Given the description of an element on the screen output the (x, y) to click on. 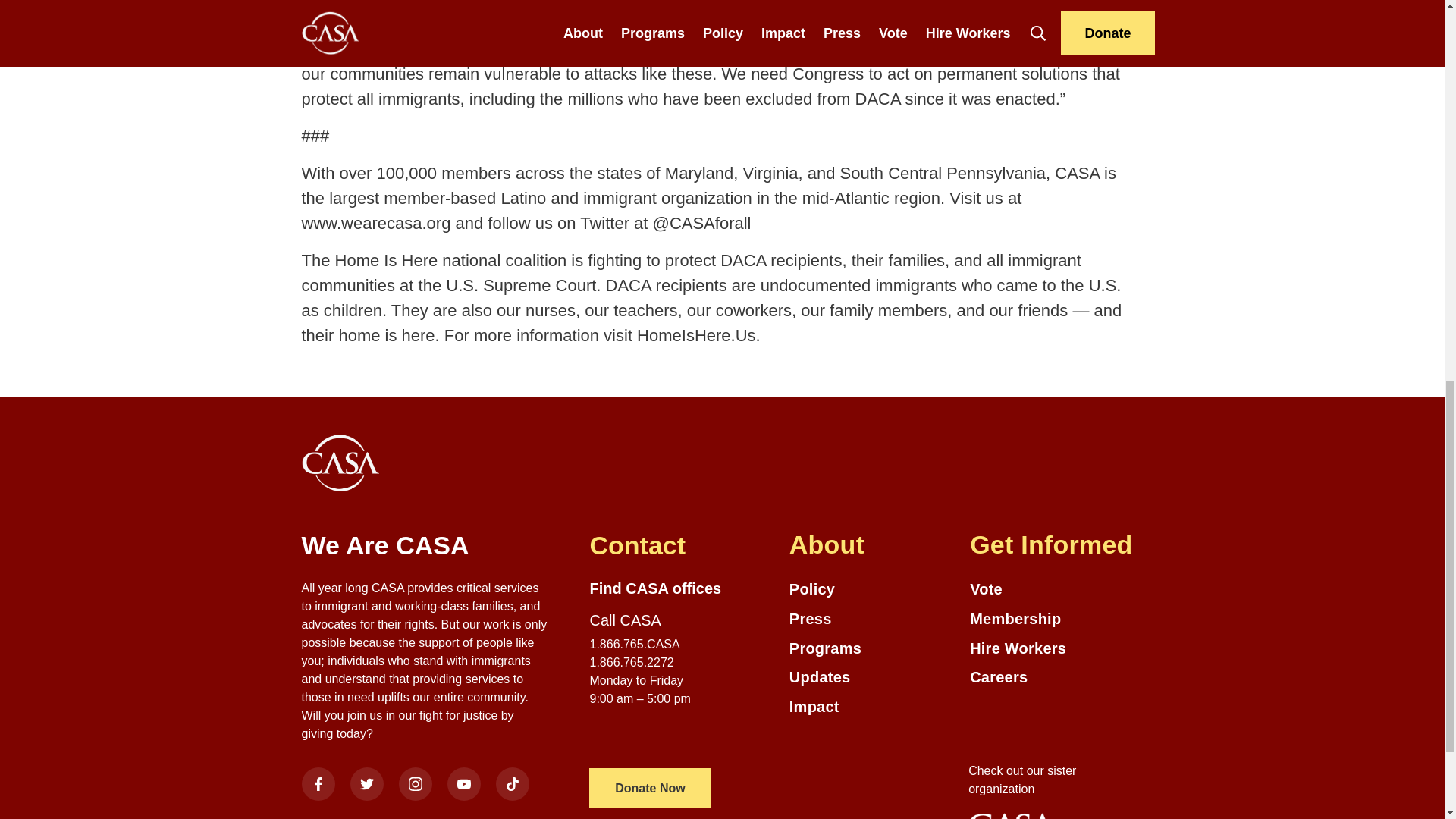
Press (872, 618)
Contact (673, 545)
About (872, 544)
Policy (872, 589)
Updates (872, 677)
Find CASA offices (654, 588)
Impact (872, 707)
Programs (872, 649)
We Are CASA (424, 545)
